Given the description of an element on the screen output the (x, y) to click on. 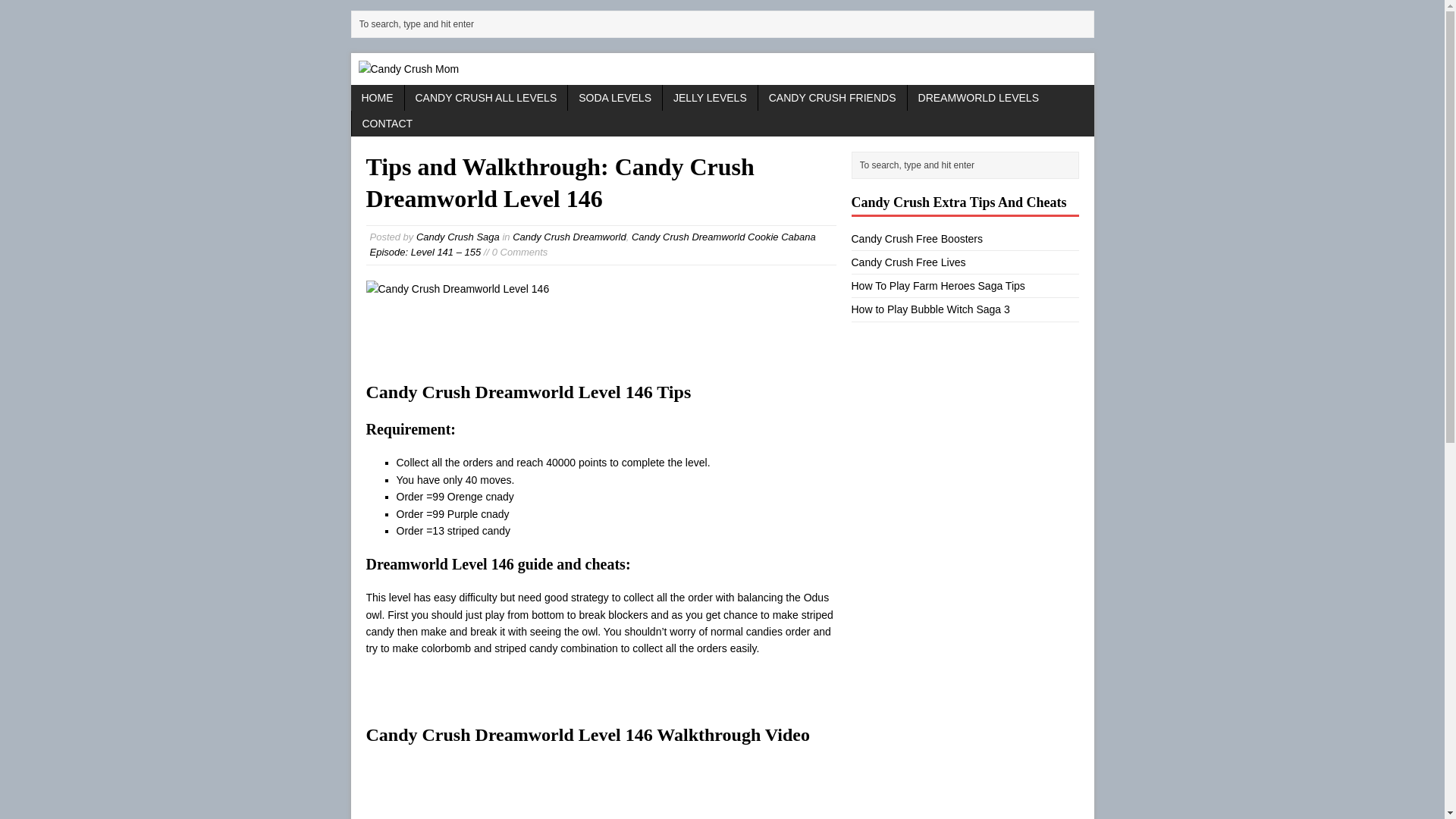
CONTACT (387, 123)
How To Play Farm Heroes Saga Tips (937, 285)
CANDY CRUSH ALL LEVELS (485, 97)
Candy Crush Dreamworld (569, 236)
Candy Crush Mom (721, 69)
How to Play Bubble Witch Saga 3 (929, 309)
Posts by Candy Crush Saga (457, 236)
Candy Crush Dreamworld Level 146 (456, 288)
CANDY CRUSH FRIENDS (832, 97)
DREAMWORLD LEVELS (978, 97)
To search, type and hit enter (725, 24)
SODA LEVELS (614, 97)
JELLY LEVELS (709, 97)
HOME (376, 97)
Candy Crush Free Boosters (916, 238)
